Given the description of an element on the screen output the (x, y) to click on. 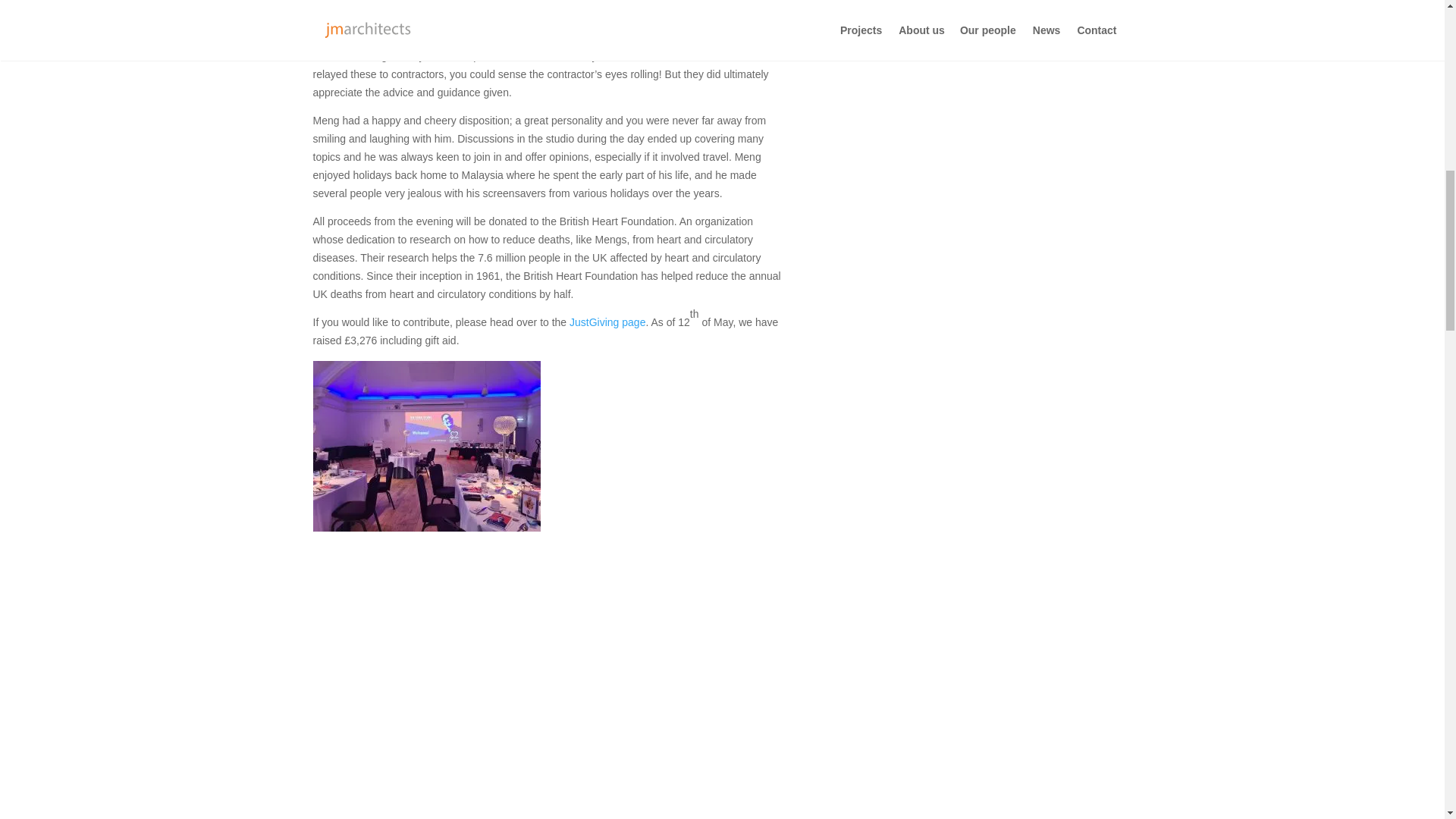
JustGiving page (607, 322)
